Given the description of an element on the screen output the (x, y) to click on. 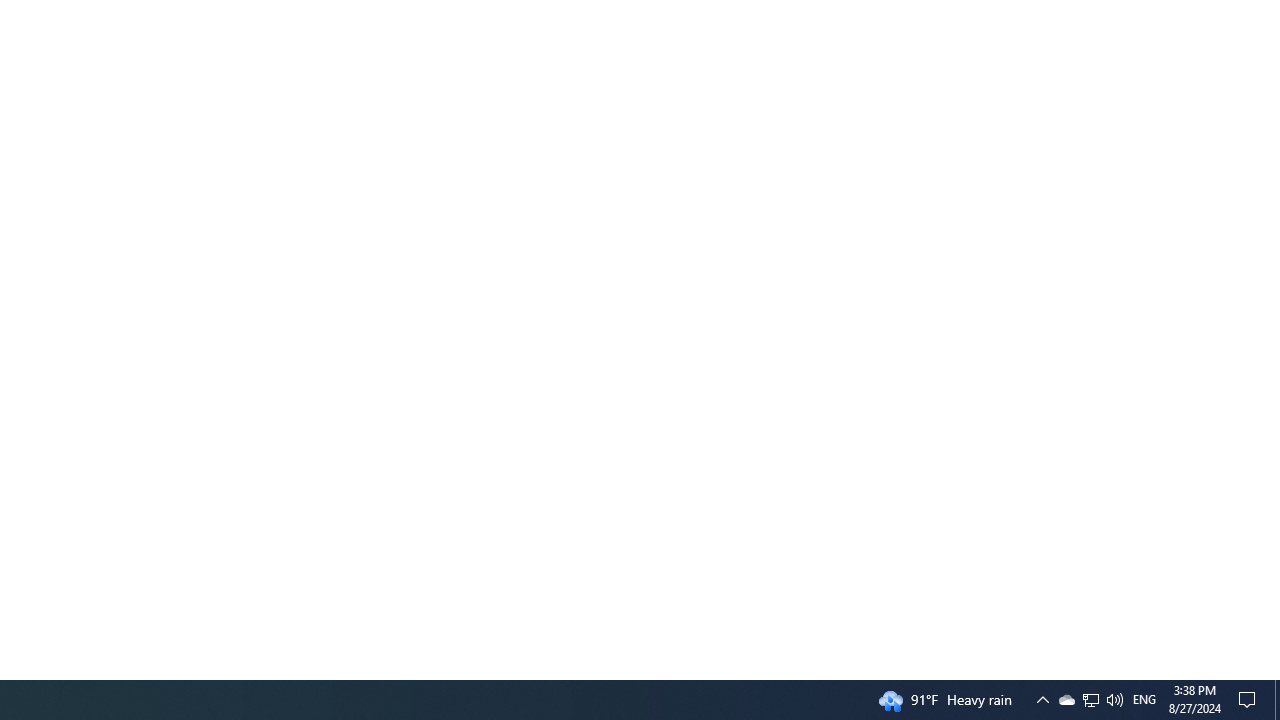
User Promoted Notification Area (1090, 699)
Q2790: 100% (1114, 699)
Action Center, No new notifications (1091, 699)
Show desktop (1066, 699)
Notification Chevron (1250, 699)
Tray Input Indicator - English (United States) (1277, 699)
